Given the description of an element on the screen output the (x, y) to click on. 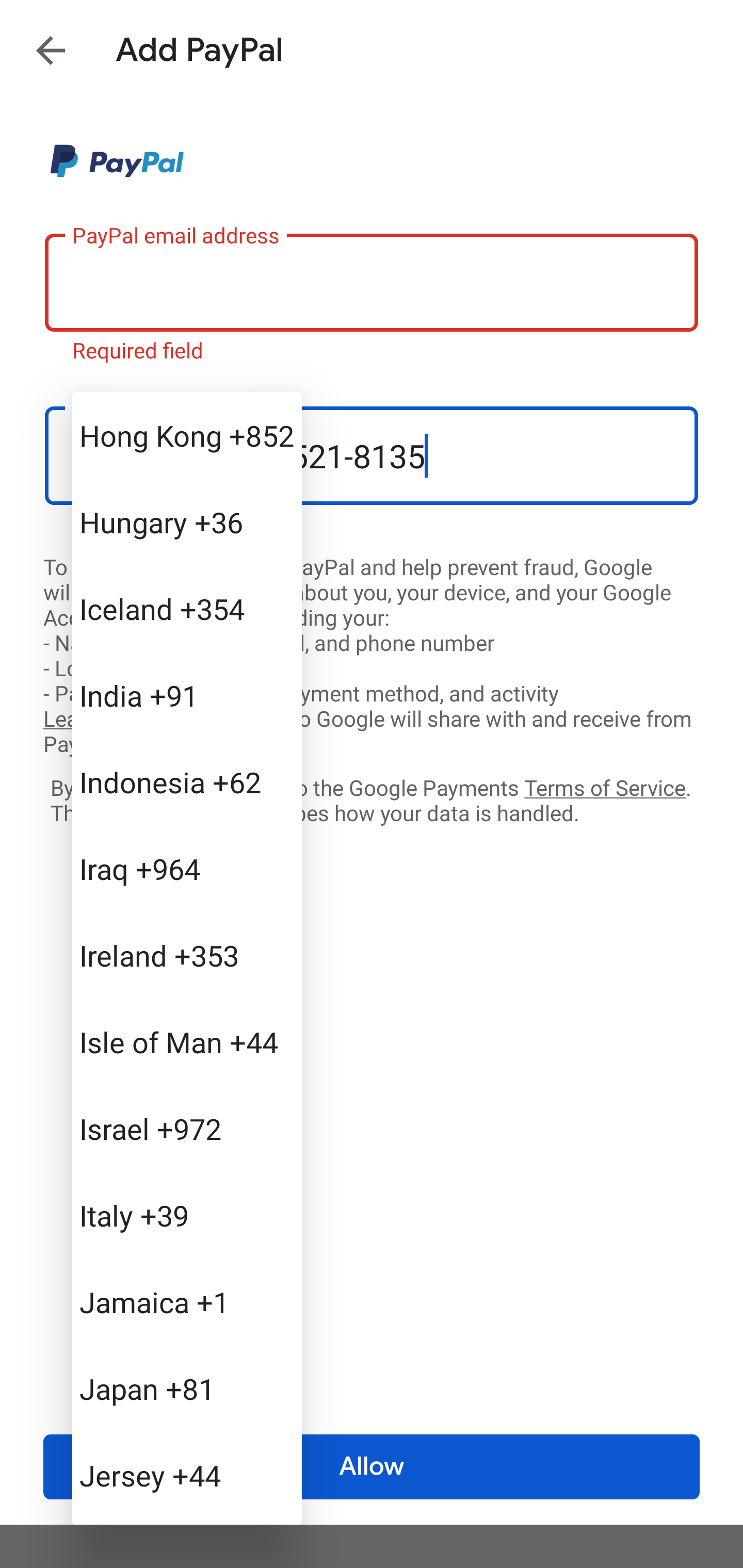
Hong Kong +852 (186, 435)
Hungary +36 (186, 522)
Iceland +354 (186, 609)
India +91 (186, 695)
Indonesia +62 (186, 781)
Iraq +964 (186, 868)
Ireland +353 (186, 955)
Isle of Man +44 (186, 1041)
Israel +972 (186, 1128)
Italy +39 (186, 1215)
Jamaica +1 (186, 1302)
Japan +81 (186, 1388)
Jersey +44 (186, 1474)
